Given the description of an element on the screen output the (x, y) to click on. 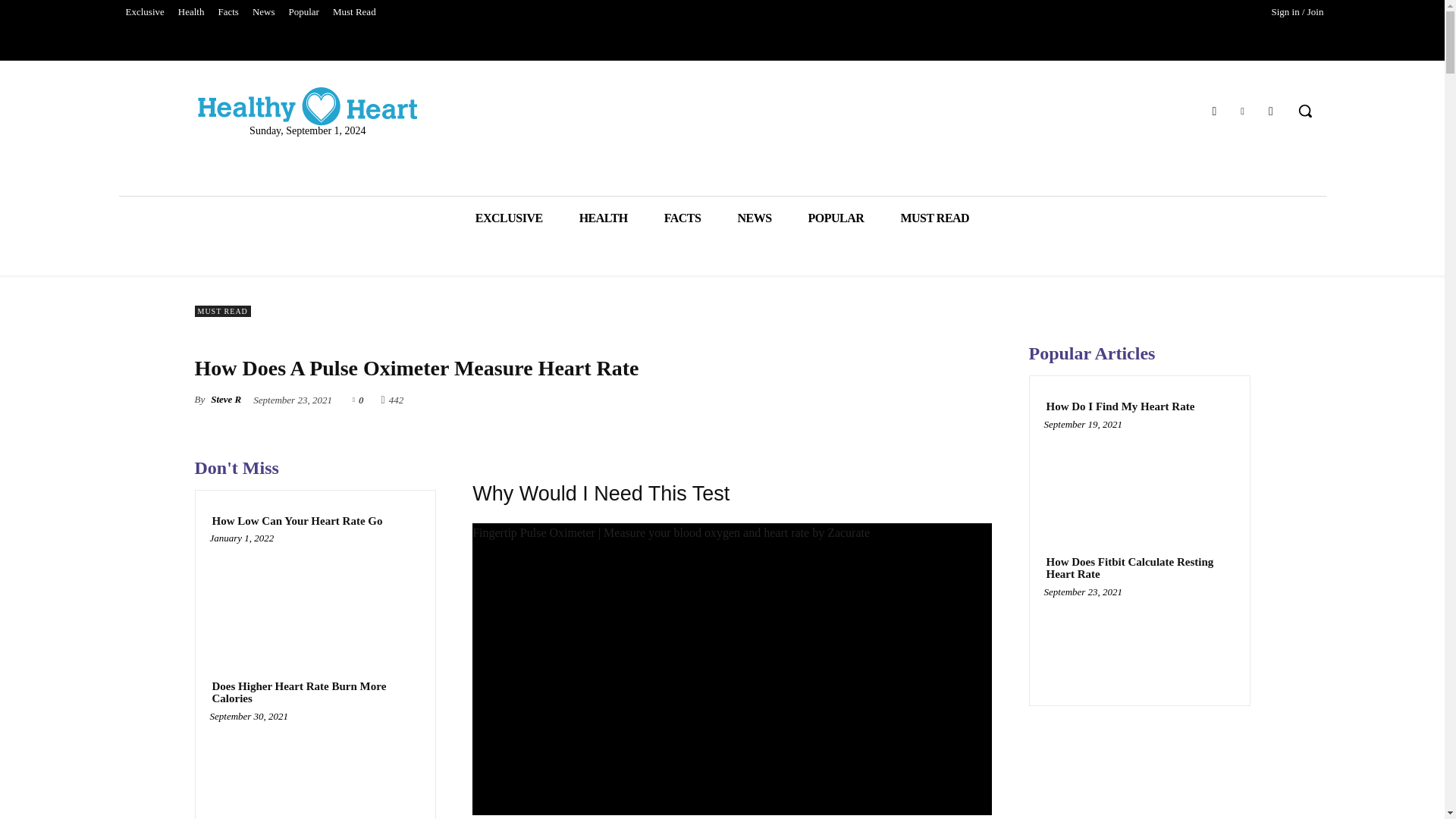
NEWS (754, 218)
POPULAR (836, 218)
EXCLUSIVE (508, 218)
How Low Can Your Heart Rate Go (314, 594)
Exclusive (143, 12)
Youtube (1270, 109)
Healthy Heart World (307, 106)
Twitter (1241, 109)
FACTS (682, 218)
Facebook (1214, 109)
